Given the description of an element on the screen output the (x, y) to click on. 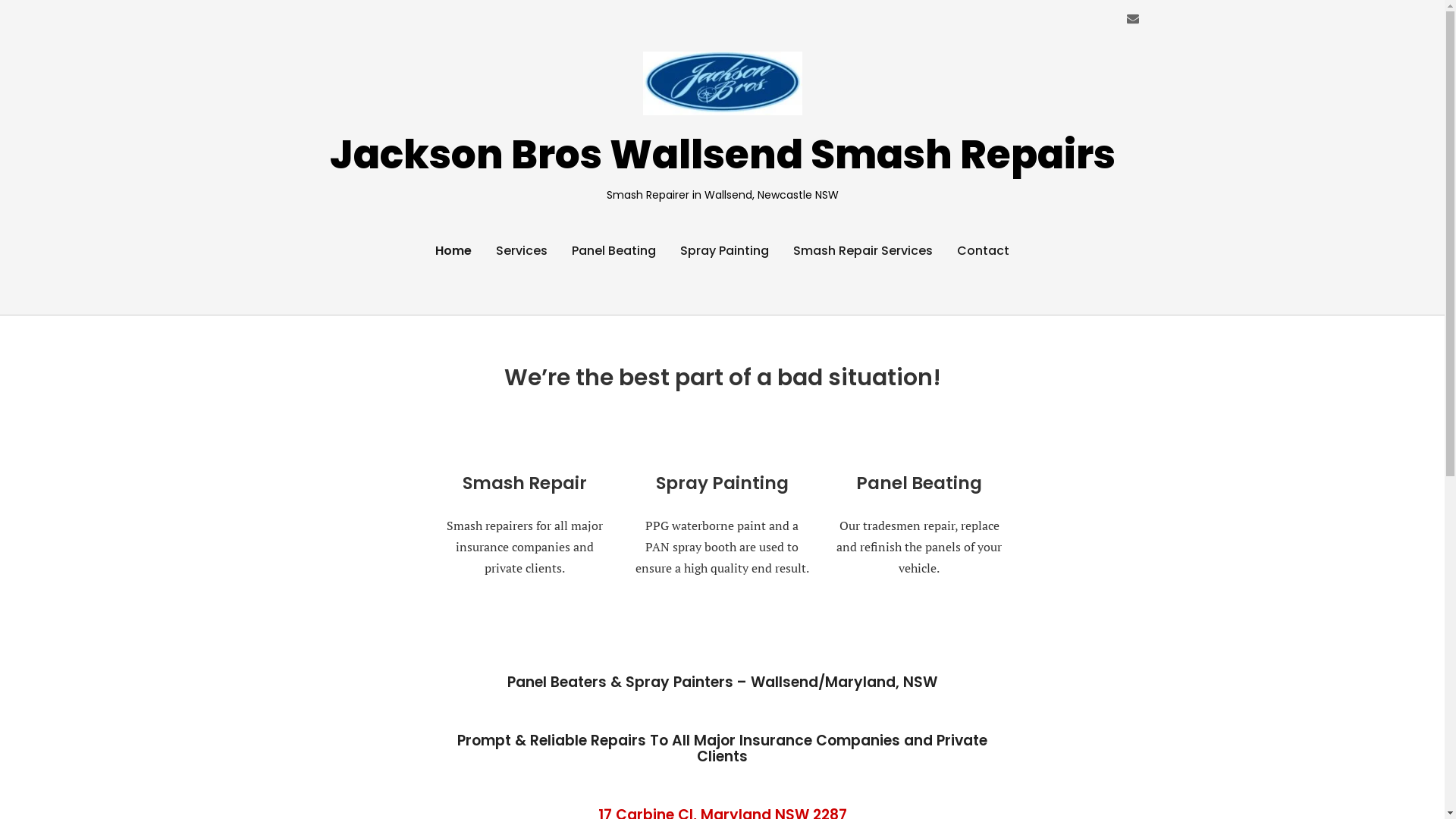
Services Element type: text (521, 250)
Smash Repair Services Element type: text (862, 250)
Panel Beating Element type: text (613, 250)
Spray Painting Element type: text (724, 250)
info@jacksonsmash.com.au Element type: hover (1132, 17)
Home Element type: text (453, 250)
Contact Element type: text (982, 250)
Jackson Bros Wallsend Smash Repairs Element type: text (721, 154)
